Given the description of an element on the screen output the (x, y) to click on. 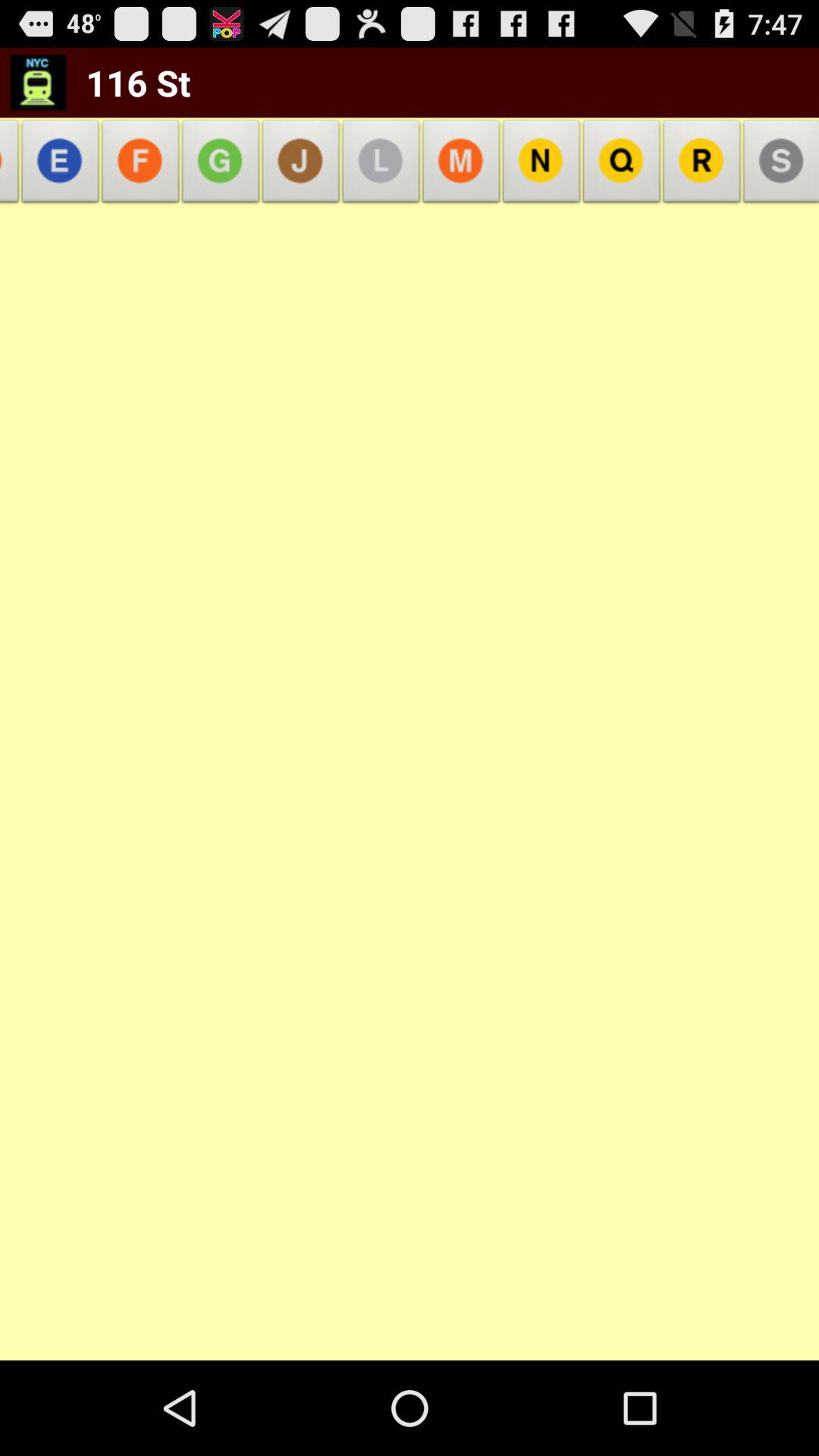
select 116 st app (127, 82)
